Given the description of an element on the screen output the (x, y) to click on. 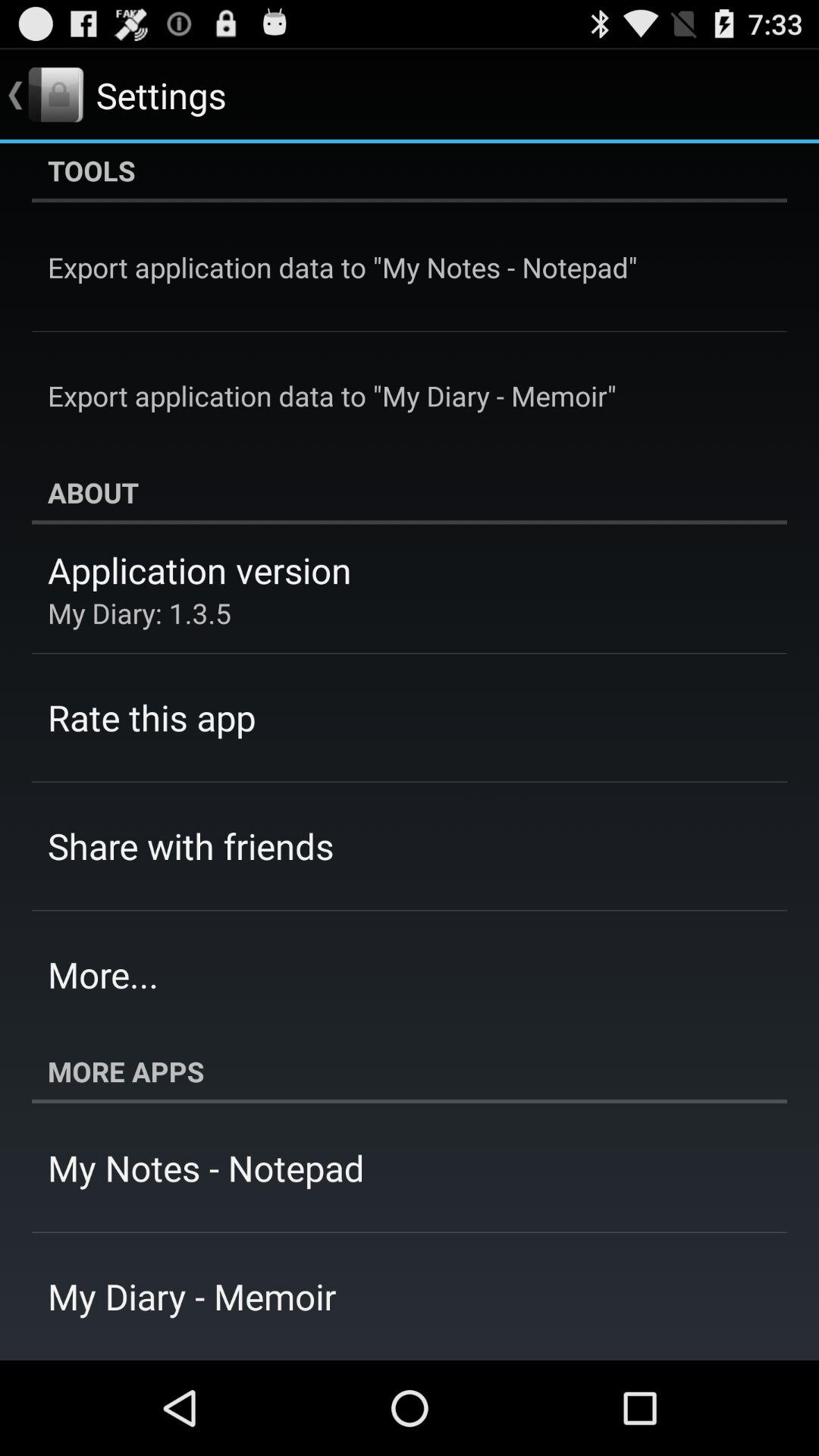
open about (409, 492)
